Given the description of an element on the screen output the (x, y) to click on. 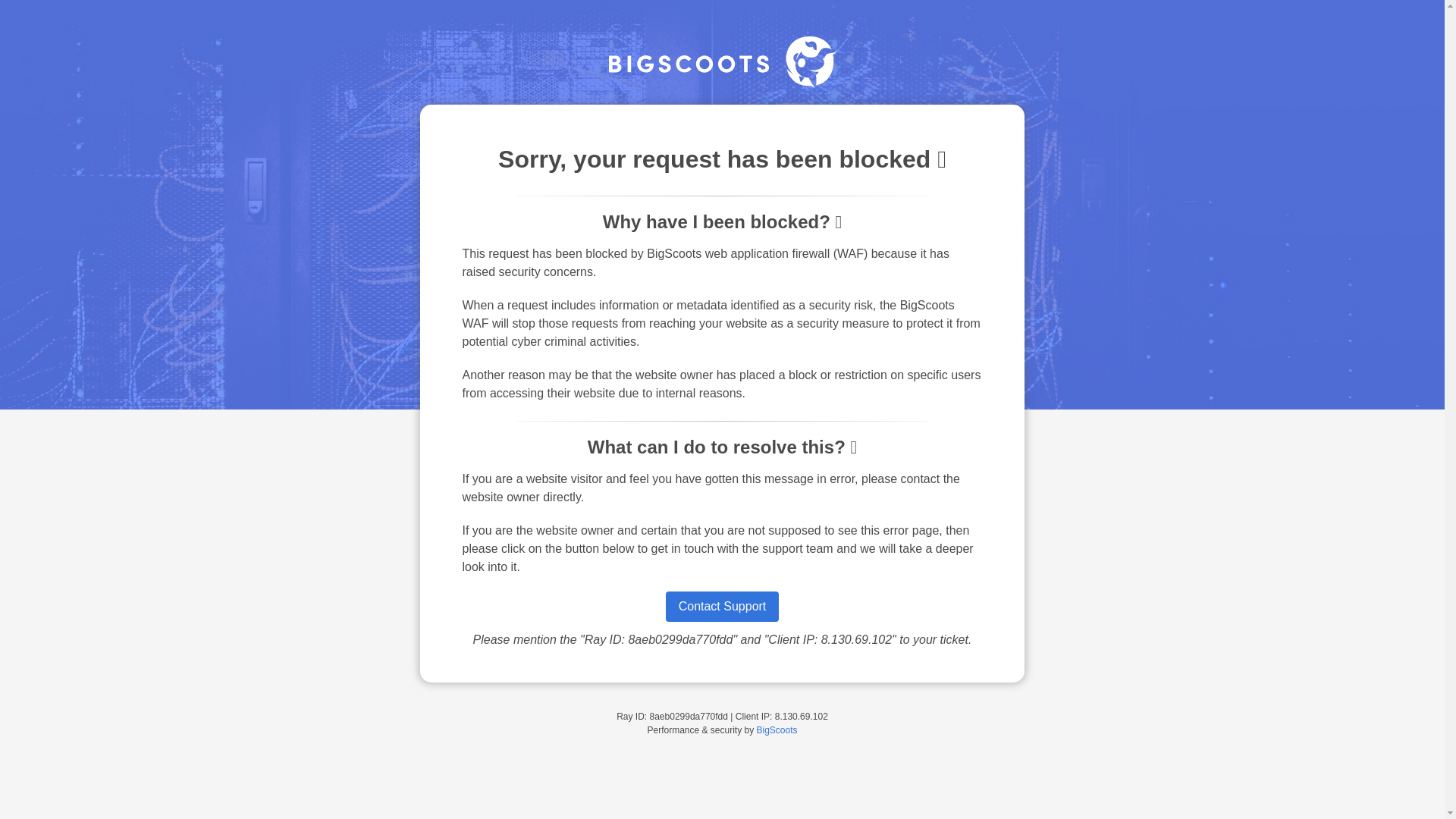
BigScoots (777, 729)
Contact Support (721, 606)
